Given the description of an element on the screen output the (x, y) to click on. 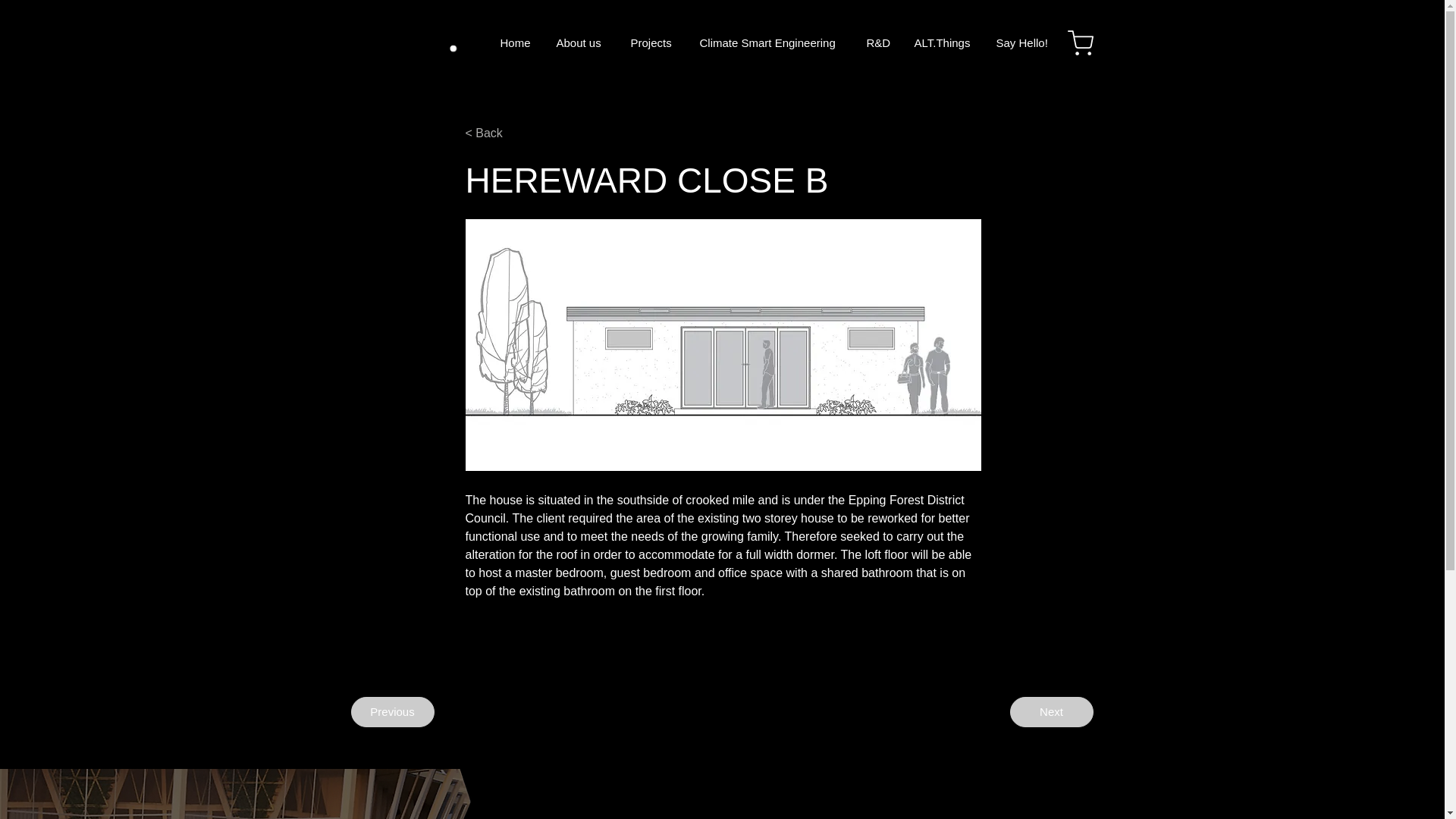
Home (515, 42)
Previous (391, 711)
ALT.Things (943, 42)
Say Hello! (1021, 42)
Projects (652, 42)
Next (1051, 711)
Climate Smart Engineering (772, 42)
About us (581, 42)
